Given the description of an element on the screen output the (x, y) to click on. 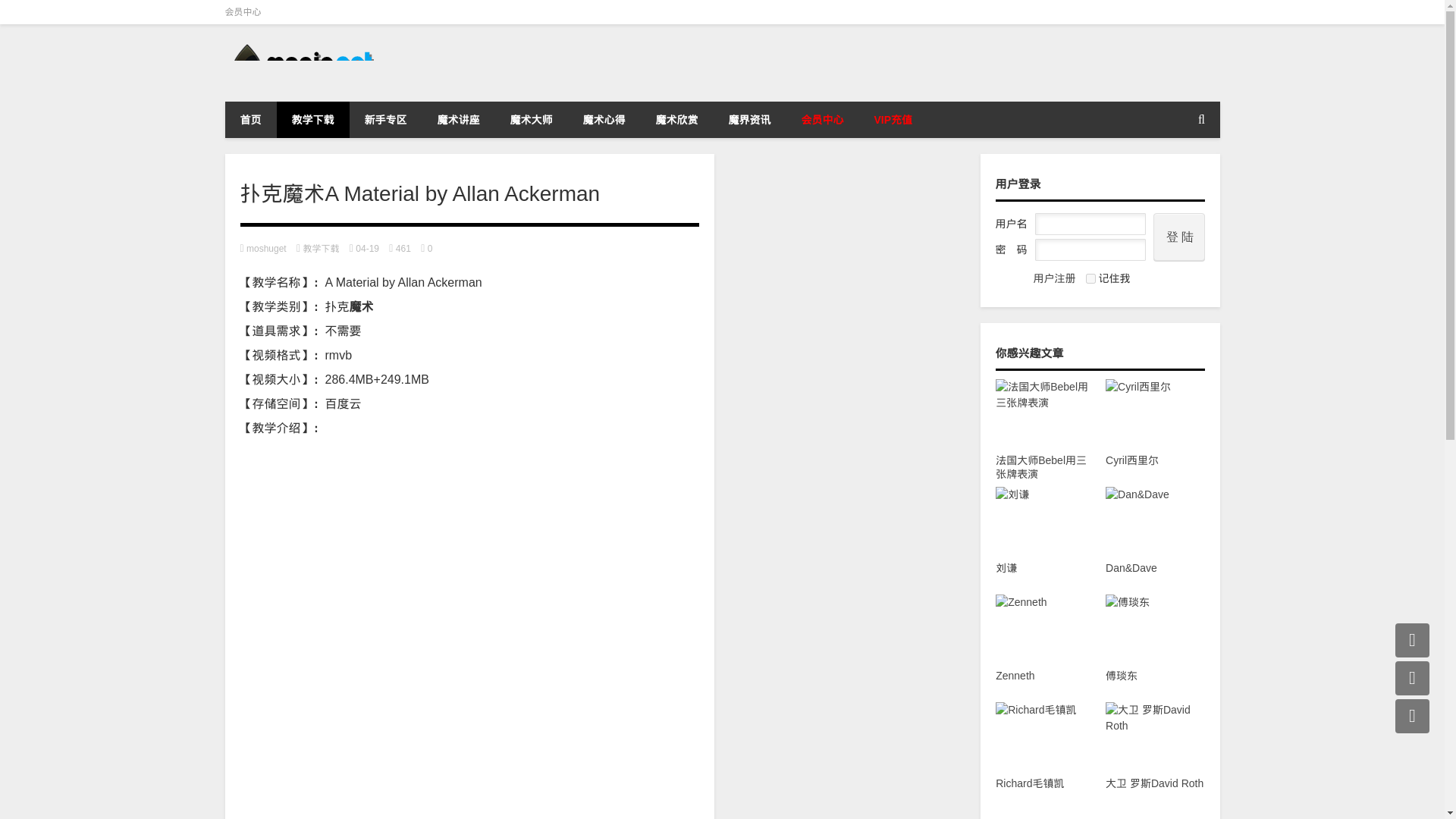
moshuget (266, 248)
forever (1091, 278)
Zenneth (1044, 644)
Zenneth (1044, 644)
